Given the description of an element on the screen output the (x, y) to click on. 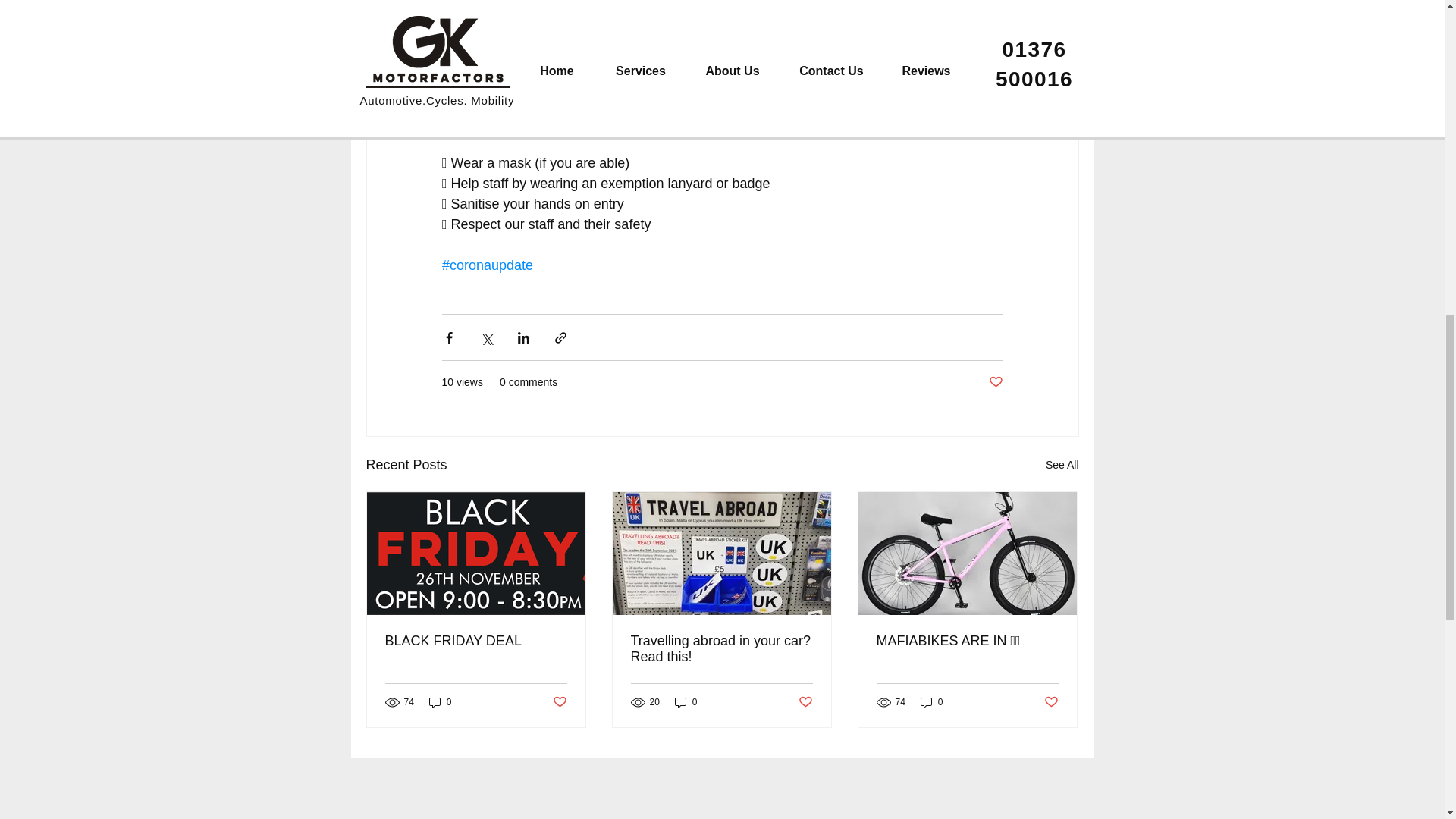
Travelling abroad in your car? Read this! (721, 649)
Post not marked as liked (995, 382)
Post not marked as liked (1050, 702)
0 (685, 702)
Post not marked as liked (804, 702)
0 (440, 702)
See All (1061, 464)
Post not marked as liked (558, 702)
0 (931, 702)
BLACK FRIDAY DEAL (476, 641)
